Given the description of an element on the screen output the (x, y) to click on. 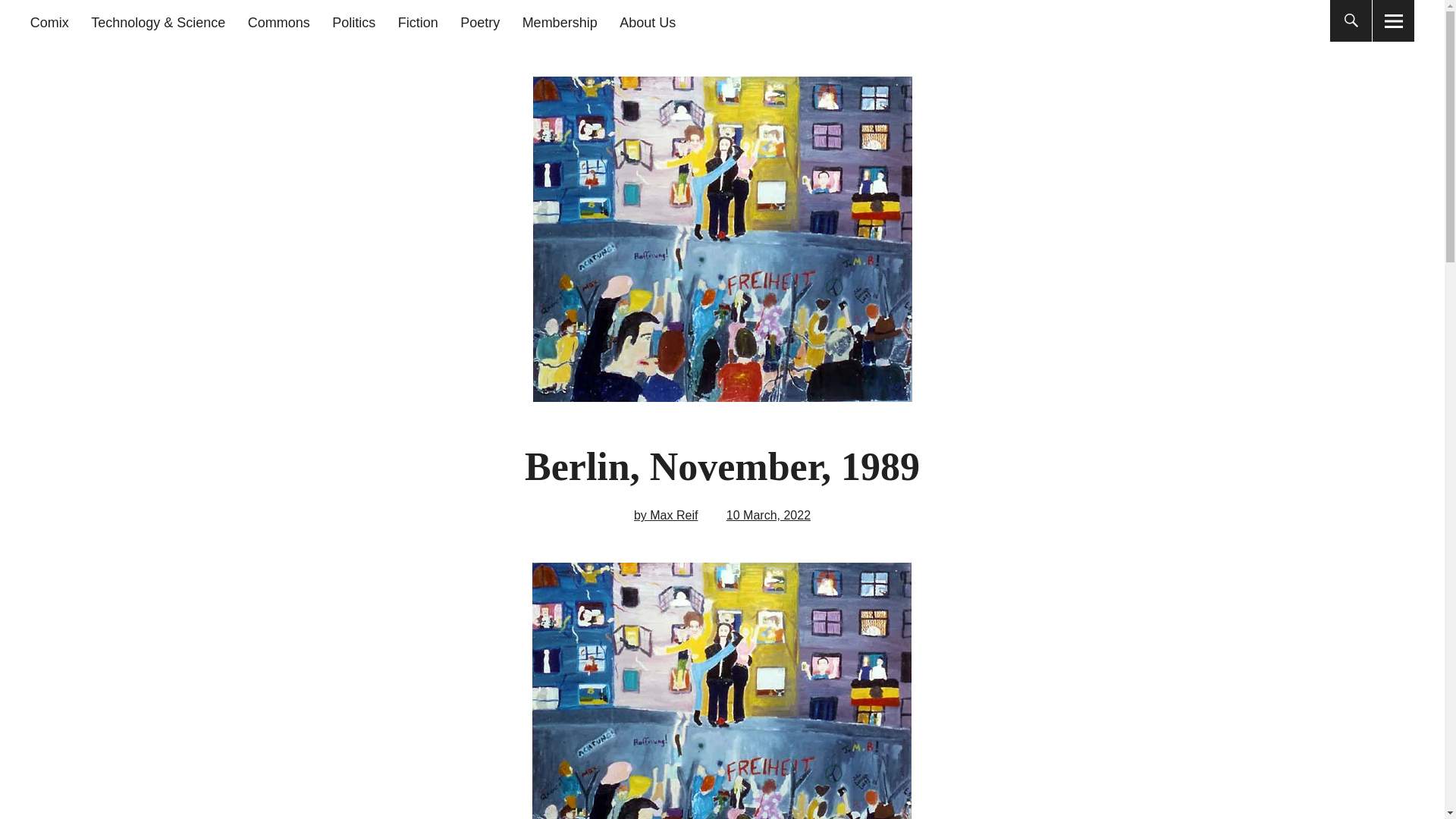
Fiction (417, 22)
Politics (353, 22)
Search (692, 19)
Membership (559, 22)
10 March, 2022 (768, 514)
Poetry (479, 22)
Comix (49, 22)
Commons (278, 22)
About Us (647, 22)
The Seattle Star (230, 112)
